Given the description of an element on the screen output the (x, y) to click on. 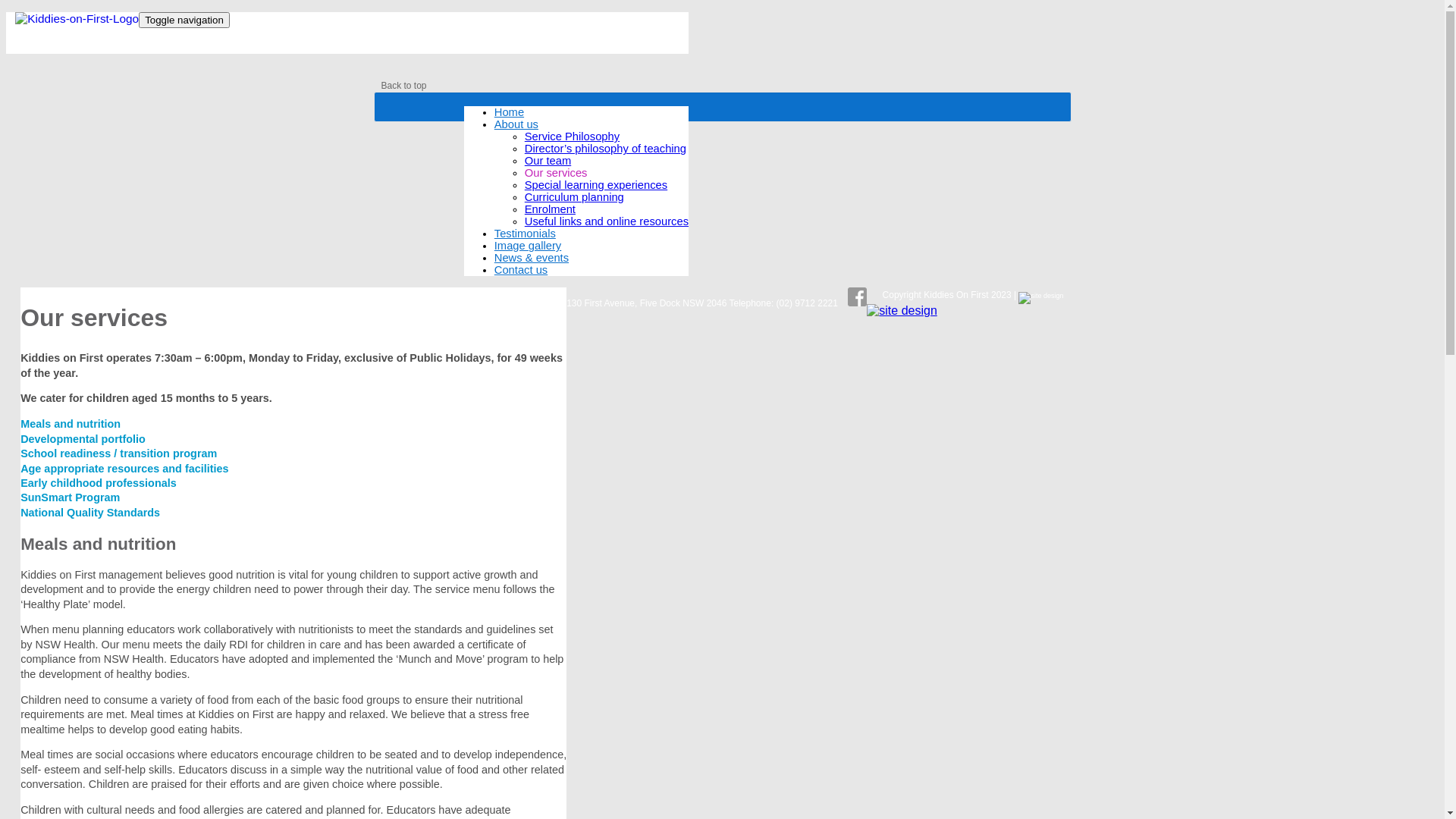
Service Philosophy Element type: text (571, 136)
Age appropriate resources and facilities Element type: text (124, 468)
About us Element type: text (516, 124)
School readiness / transition program Element type: text (118, 453)
Special learning experiences Element type: text (595, 184)
Toggle navigation Element type: text (183, 20)
SunSmart Program Element type: text (69, 497)
Curriculum planning Element type: text (574, 197)
Home Element type: text (509, 112)
Enrolment Element type: text (549, 209)
Developmental portfolio Element type: text (82, 439)
Early childhood professionals Element type: text (98, 482)
Testimonials Element type: text (524, 233)
Contact us Element type: text (520, 269)
Meals and nutrition Element type: text (70, 423)
National Quality Standards Element type: text (90, 512)
Our services Element type: text (555, 172)
Useful links and online resources Element type: text (606, 221)
News & events Element type: text (531, 257)
Our team Element type: text (547, 160)
Image gallery Element type: text (527, 245)
Back to top Element type: text (403, 85)
